Given the description of an element on the screen output the (x, y) to click on. 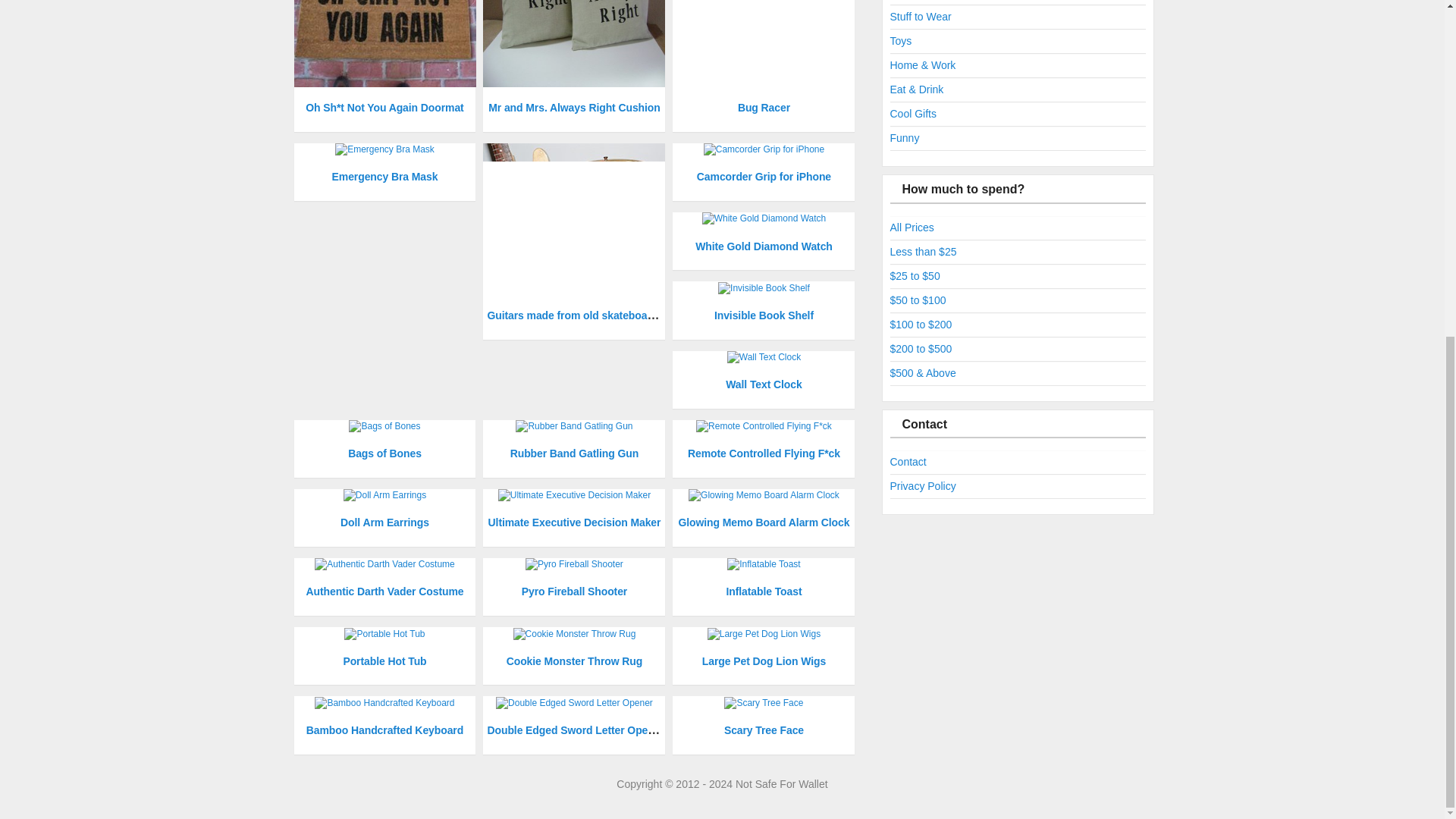
Mr and Mrs. Always Right Cushion (574, 107)
Invisible Book Shelf (763, 315)
Guitars made from old skateboards (574, 314)
Bags of Bones (384, 453)
Bug Racer (764, 107)
Emergency Bra Mask (384, 176)
White Gold Diamond Watch (763, 246)
Camcorder Grip for iPhone (764, 176)
Wall Text Clock (763, 384)
Rubber Band Gatling Gun (575, 453)
